Given the description of an element on the screen output the (x, y) to click on. 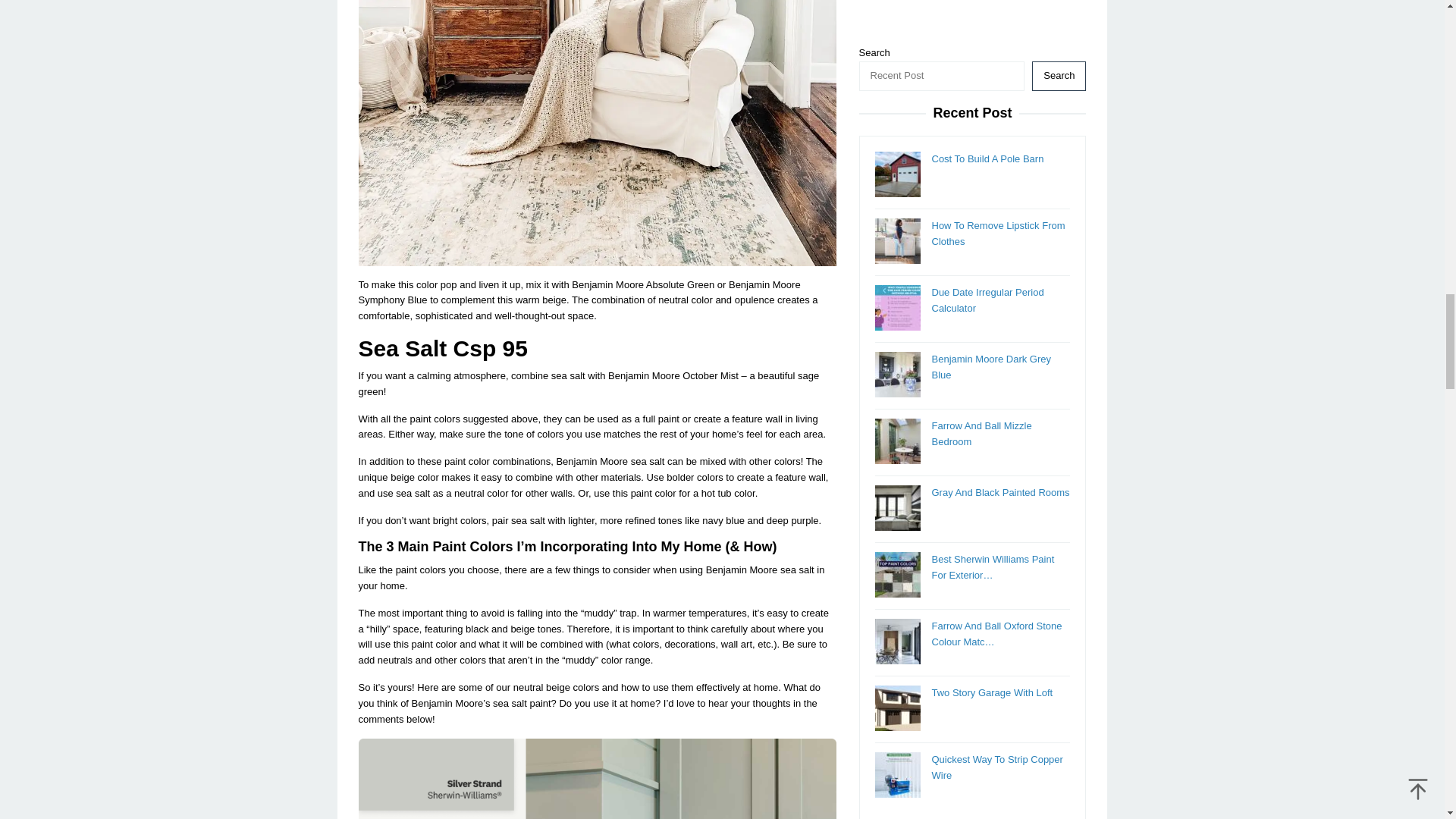
Benjamin Moore Sea Salt Equivalent (596, 133)
Benjamin Moore Sea Salt Equivalent (596, 778)
